Given the description of an element on the screen output the (x, y) to click on. 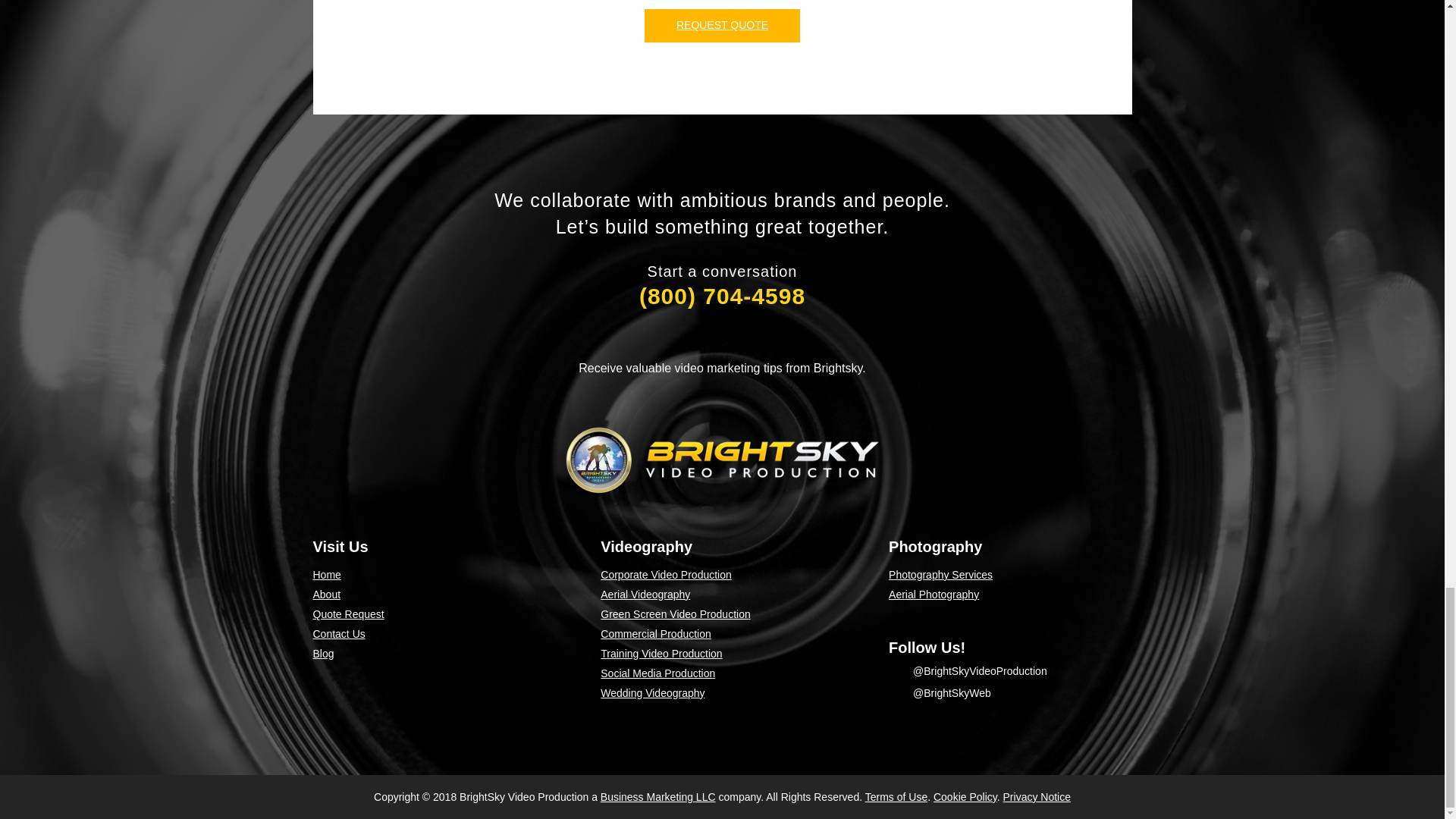
logo-footer-bsvp (721, 460)
